Given the description of an element on the screen output the (x, y) to click on. 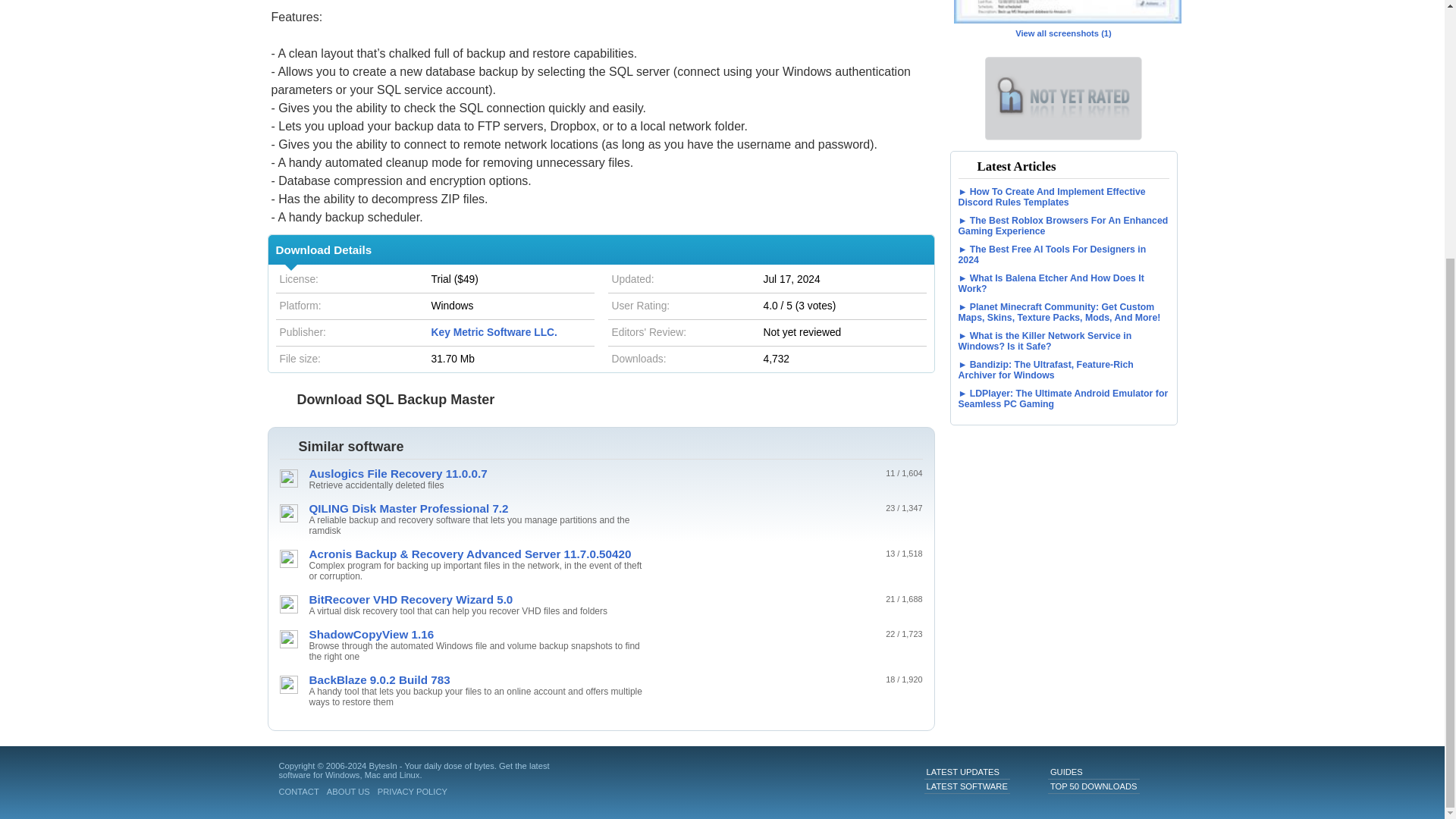
QILING Disk Master Professional 7.2 (475, 508)
The Best Free AI Tools For Designers in 2024 (1063, 254)
BitRecover VHD Recovery Wizard 5.0 (475, 599)
What Is Balena Etcher And How Does It Work? (1063, 283)
Auslogics File Recovery 11.0.0.7 (475, 472)
The Best Roblox Browsers For An Enhanced Gaming Experience (1063, 225)
Key Metric Software LLC. (493, 332)
ShadowCopyView 1.16 (475, 634)
BackBlaze 9.0.2 Build 783 (475, 679)
